Given the description of an element on the screen output the (x, y) to click on. 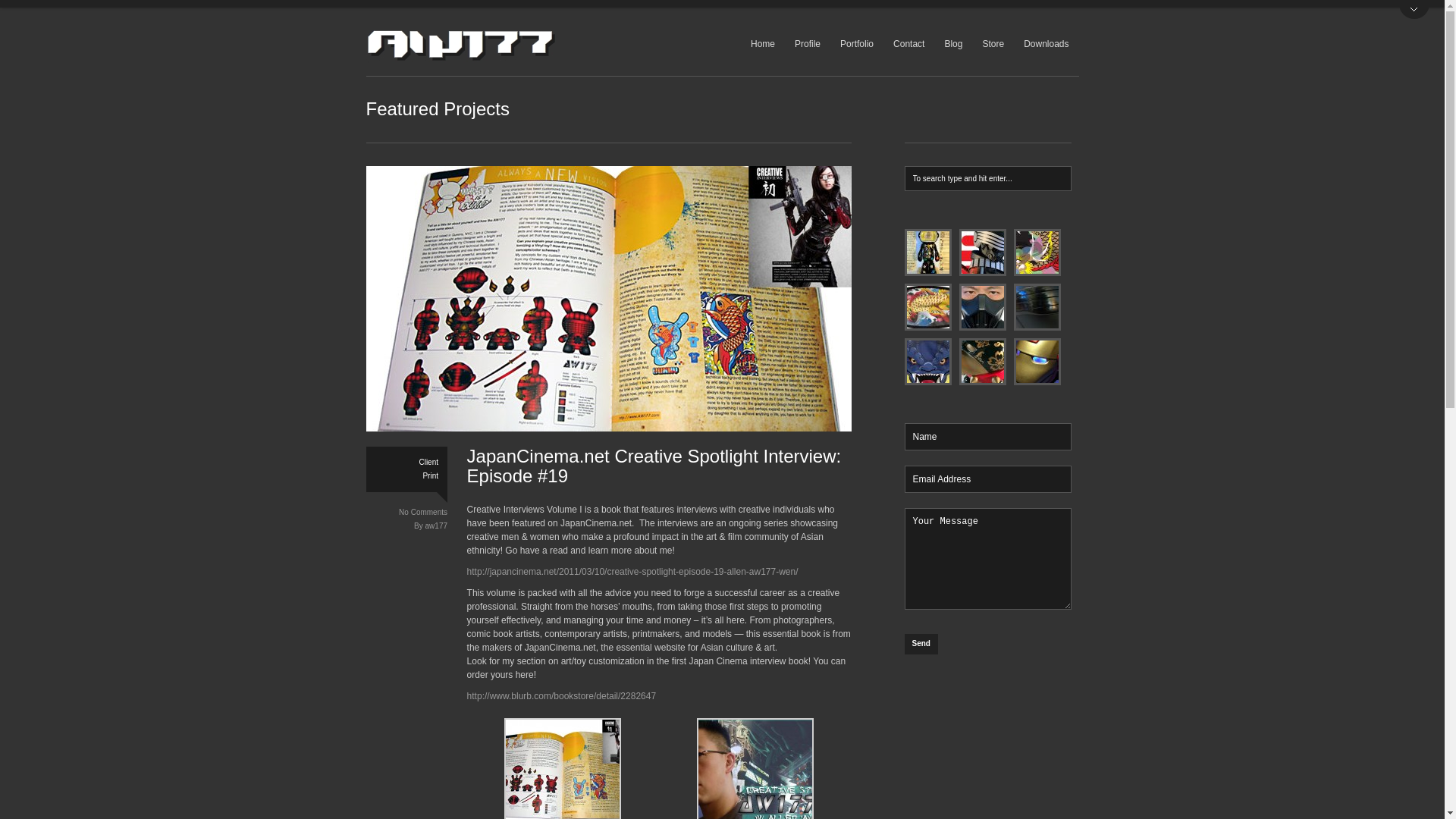
Print (430, 476)
Send (920, 643)
No Comments (422, 512)
Contact (908, 48)
Profile (807, 44)
0 (824, 178)
Name (987, 436)
To search type and hit enter... (987, 178)
Email Address (987, 479)
Portfolio (856, 44)
